Given the description of an element on the screen output the (x, y) to click on. 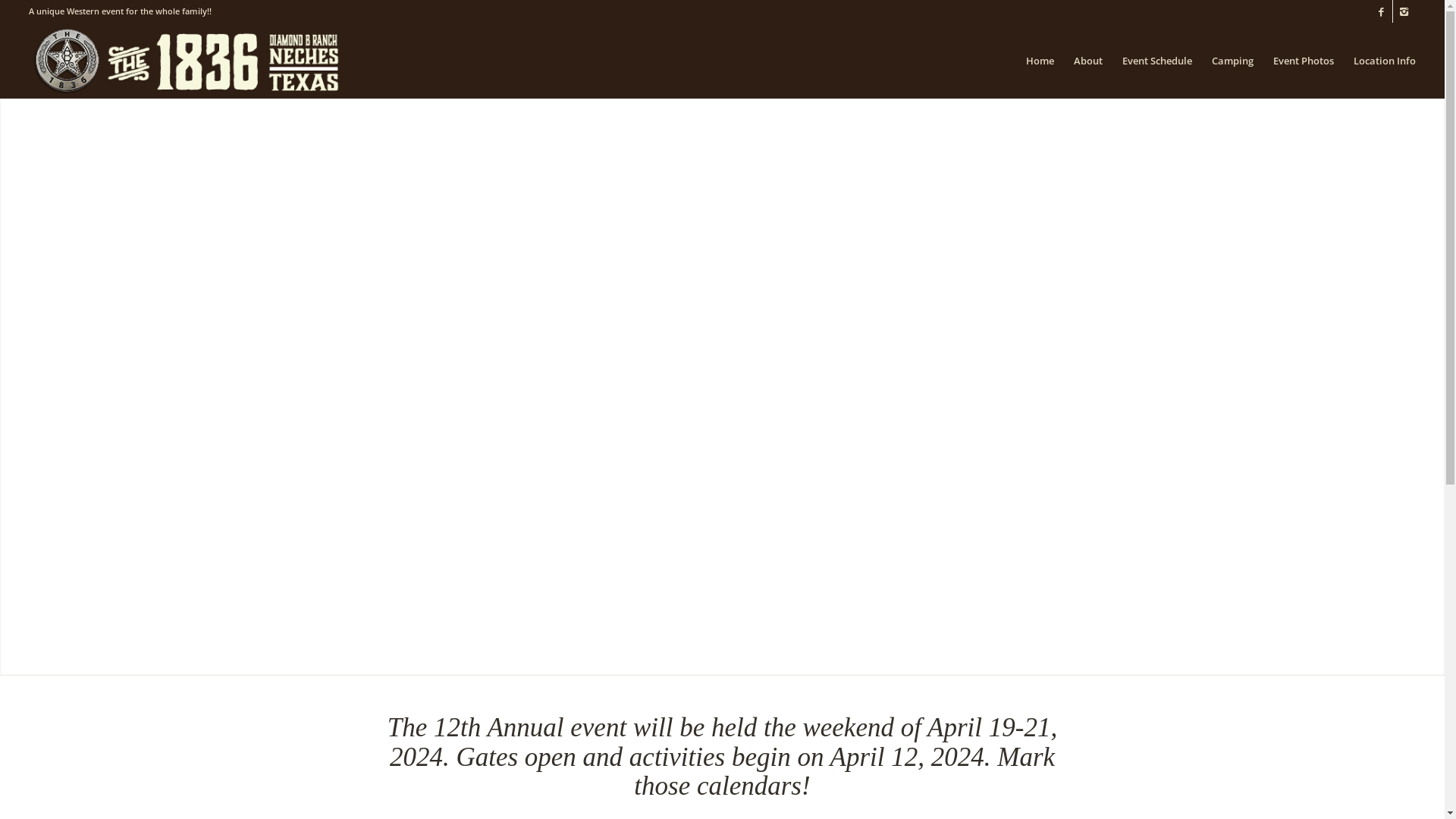
Instagram Element type: hover (1404, 11)
Facebook Element type: hover (1381, 11)
Event Schedule Element type: text (1156, 60)
About Element type: text (1087, 60)
Home Element type: text (1039, 60)
Event Photos Element type: text (1303, 60)
Location Info Element type: text (1379, 60)
Camping Element type: text (1232, 60)
